Given the description of an element on the screen output the (x, y) to click on. 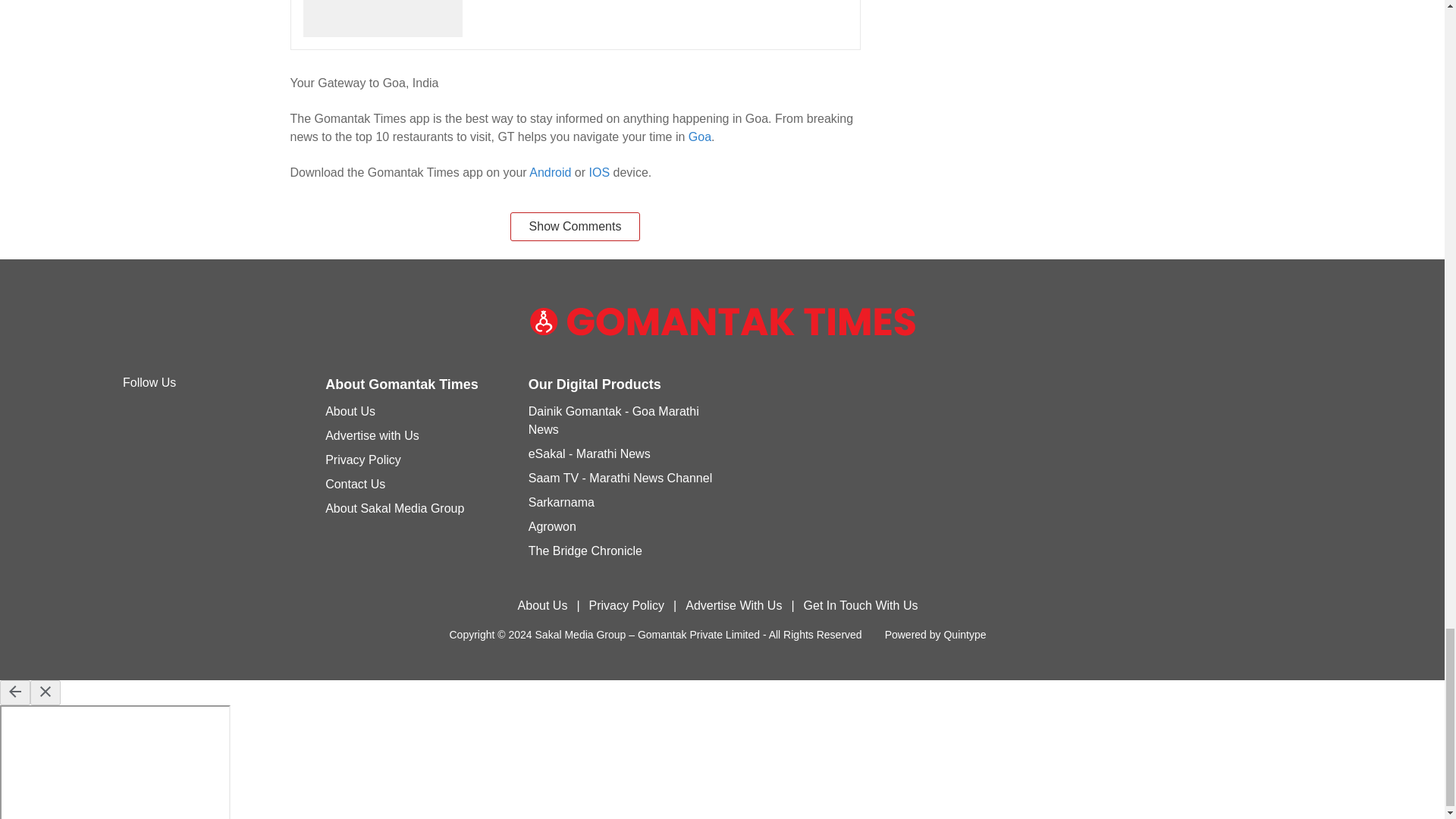
A unique sangodd utsav at Veling, Ponda (574, 24)
